Given the description of an element on the screen output the (x, y) to click on. 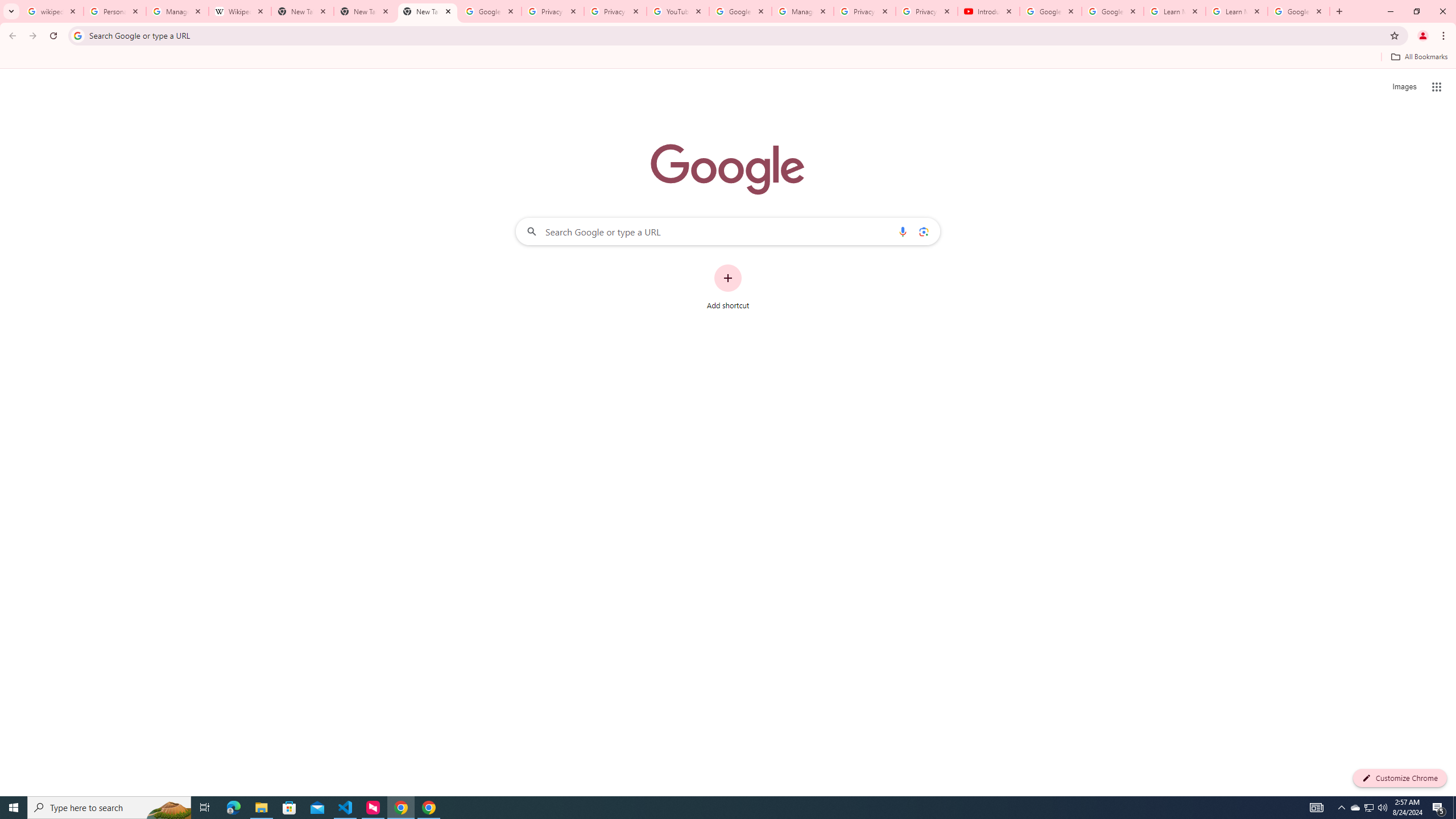
Personalization & Google Search results - Google Search Help (114, 11)
New Tab (365, 11)
Google Account Help (1050, 11)
Manage your Location History - Google Search Help (177, 11)
Address and search bar (735, 35)
YouTube (678, 11)
Search for Images  (1403, 87)
Google Account Help (740, 11)
